Given the description of an element on the screen output the (x, y) to click on. 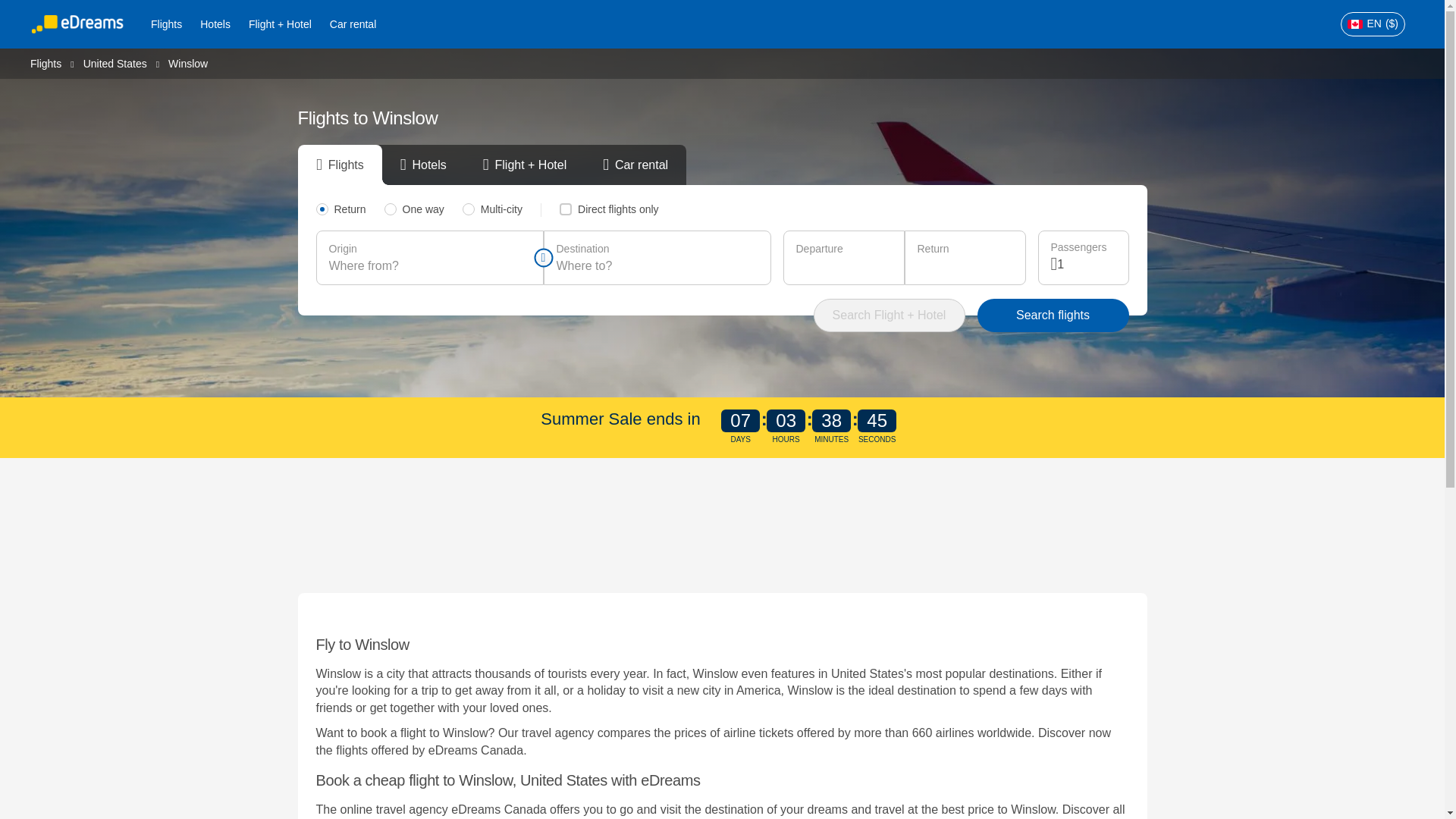
3rd party ad content (722, 522)
United States (114, 62)
Flights (45, 62)
Flights (165, 24)
Hotels (215, 24)
Winslow (188, 63)
1 (1086, 263)
Car rental (352, 24)
